Given the description of an element on the screen output the (x, y) to click on. 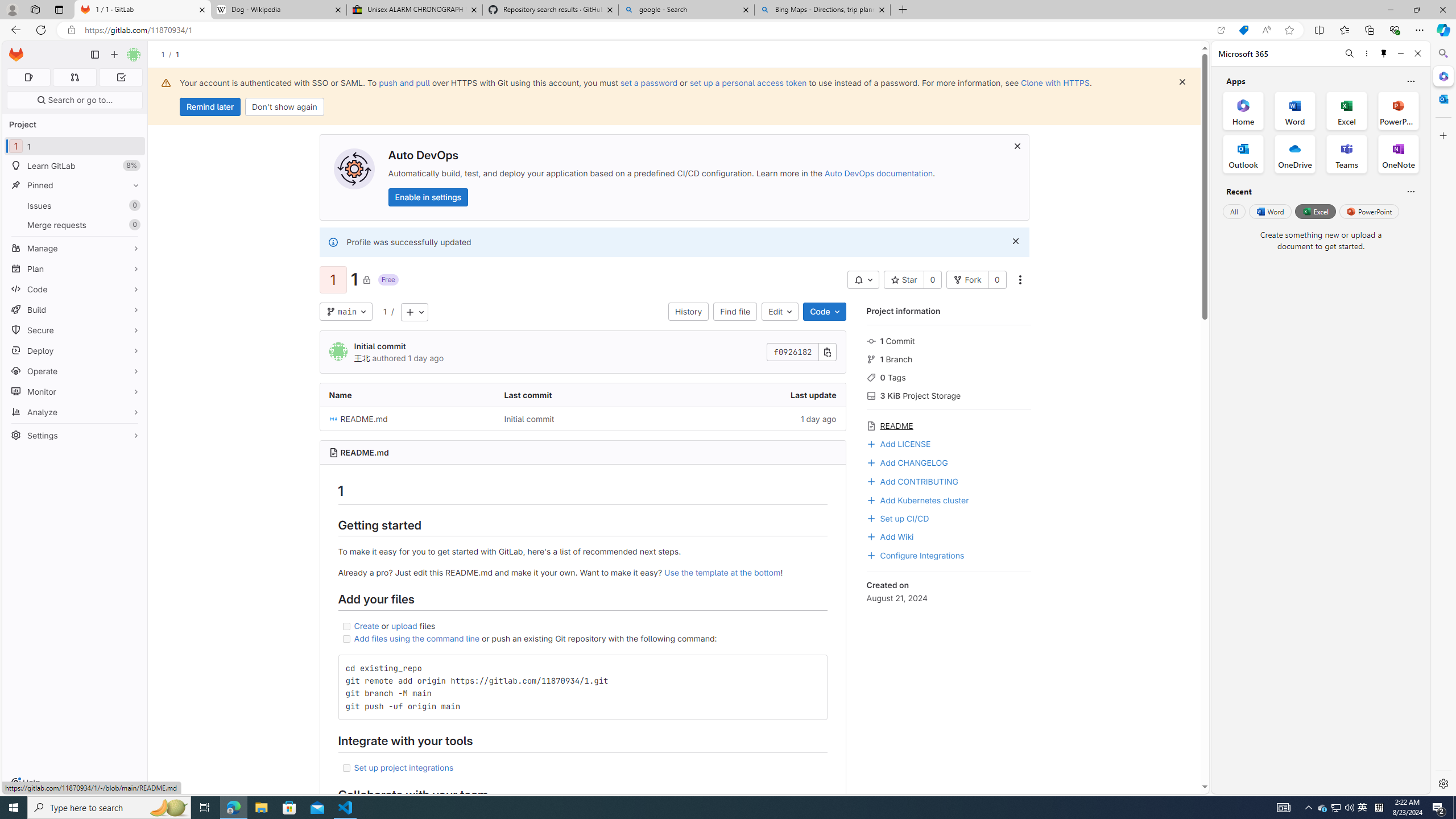
Use the template at the bottom (721, 572)
Analyze (74, 411)
Class: s16 gl-alert-icon gl-alert-icon-no-title (332, 241)
3 KiB Project Storage (948, 394)
Class: s16 gl-blue-500! gl-mr-3 (871, 555)
Class: s16 gl-icon gl-button-icon  (1015, 240)
Monitor (74, 391)
README (948, 424)
Initial commit (528, 418)
Set up project integrations (582, 767)
